Given the description of an element on the screen output the (x, y) to click on. 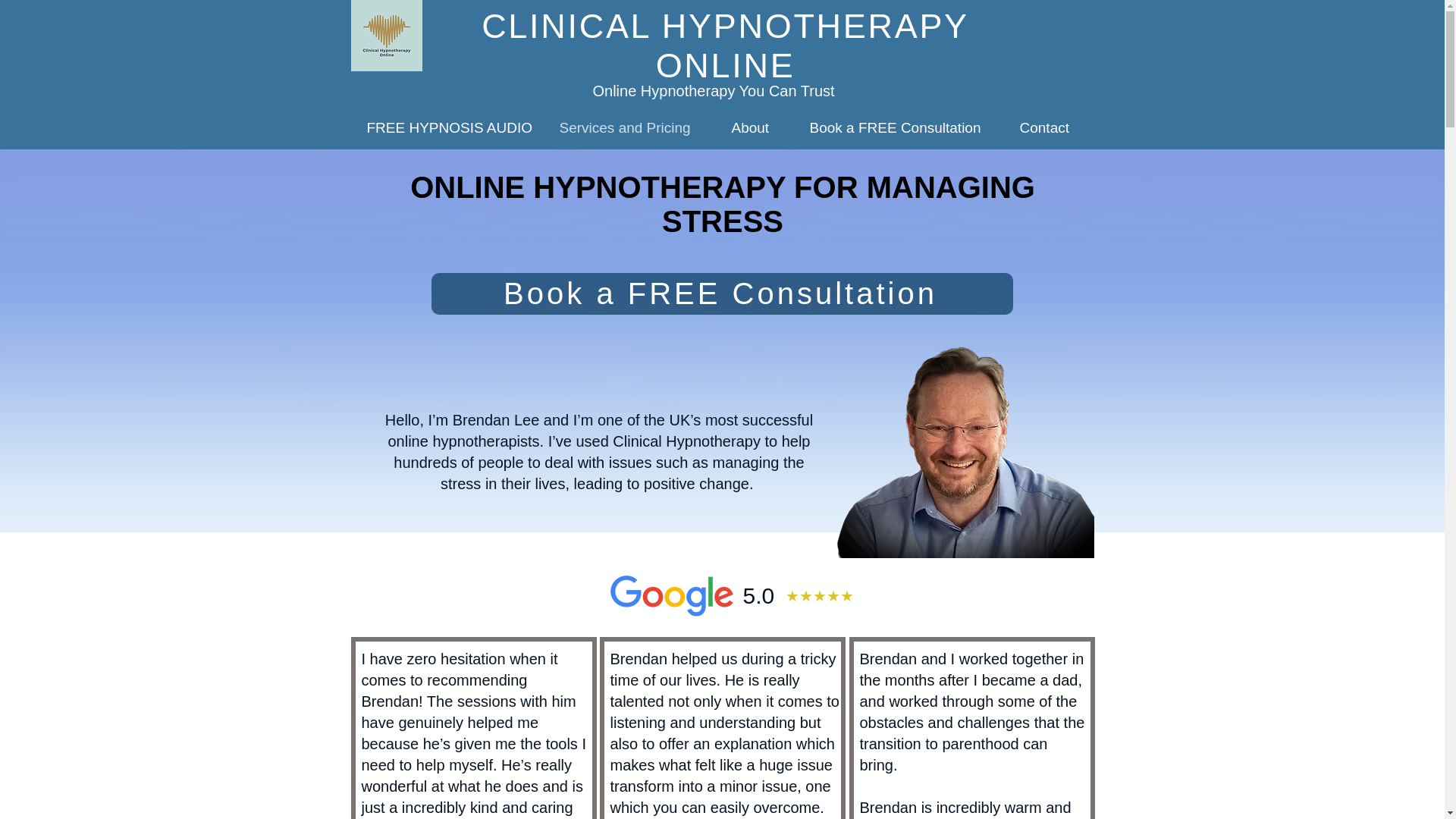
Book a FREE Consultation (720, 293)
Services and Pricing (630, 128)
Contact (1048, 128)
FREE HYPNOSIS AUDIO (448, 128)
Book a FREE Consultation (899, 128)
About (754, 128)
